Given the description of an element on the screen output the (x, y) to click on. 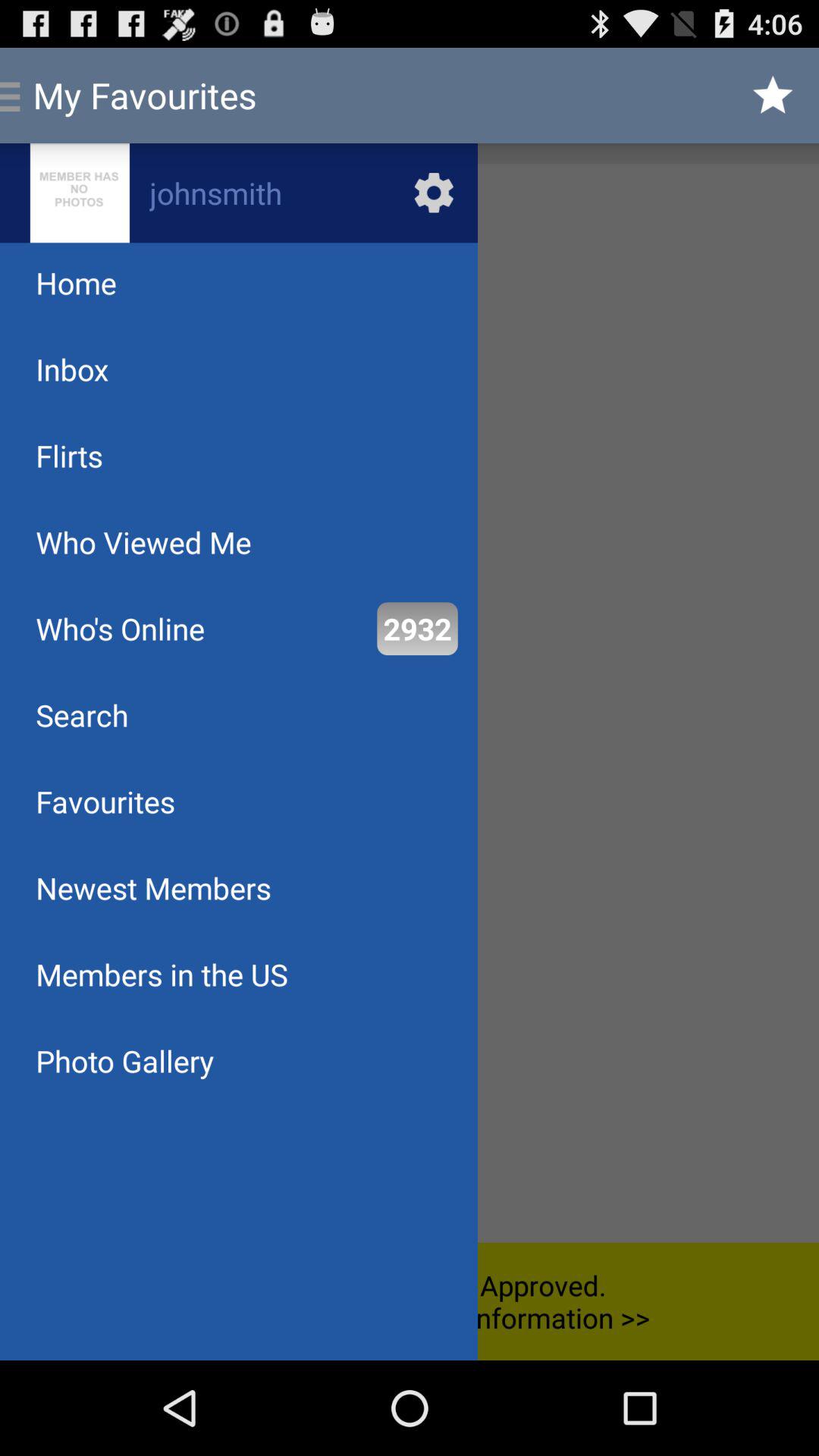
turn off the item below members in the icon (124, 1060)
